Given the description of an element on the screen output the (x, y) to click on. 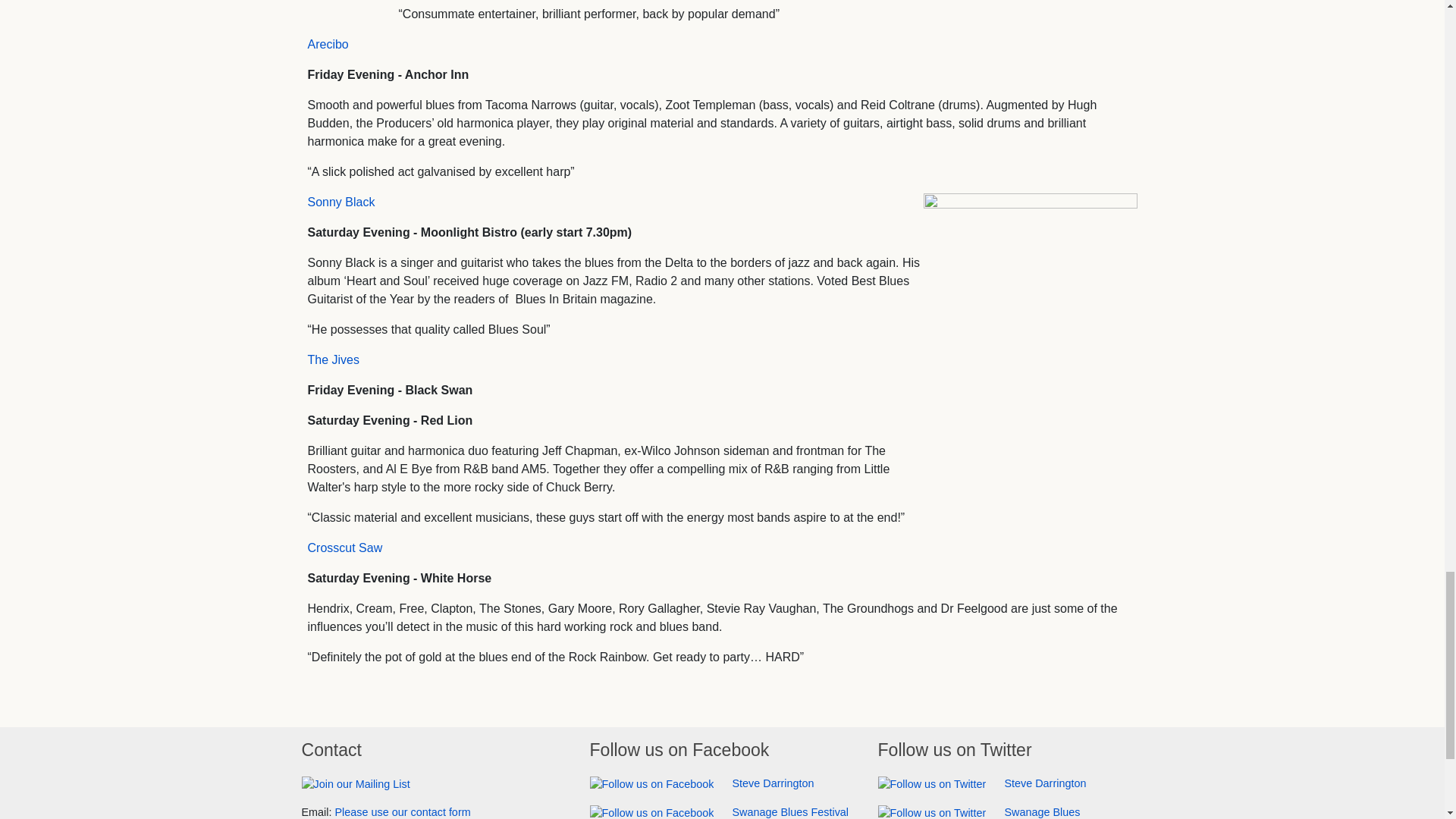
Please use our contact form (402, 811)
Steve Darrington (701, 783)
Arecibo (328, 43)
Swanage Blues Festival (718, 811)
The Jives (333, 359)
Sonny Black (341, 201)
Crosscut Saw (344, 547)
